Given the description of an element on the screen output the (x, y) to click on. 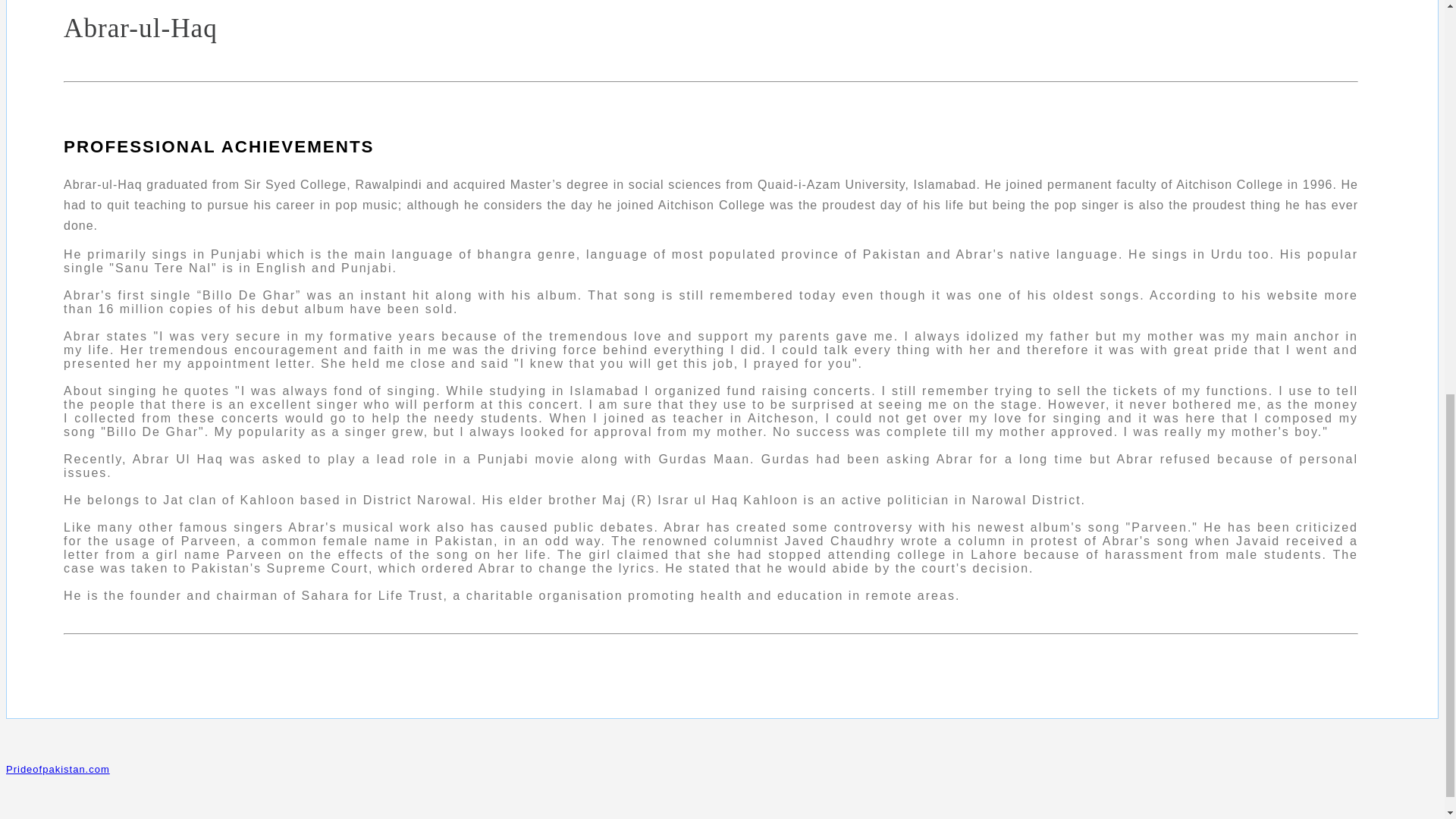
Prideofpakistan.com (57, 768)
